Given the description of an element on the screen output the (x, y) to click on. 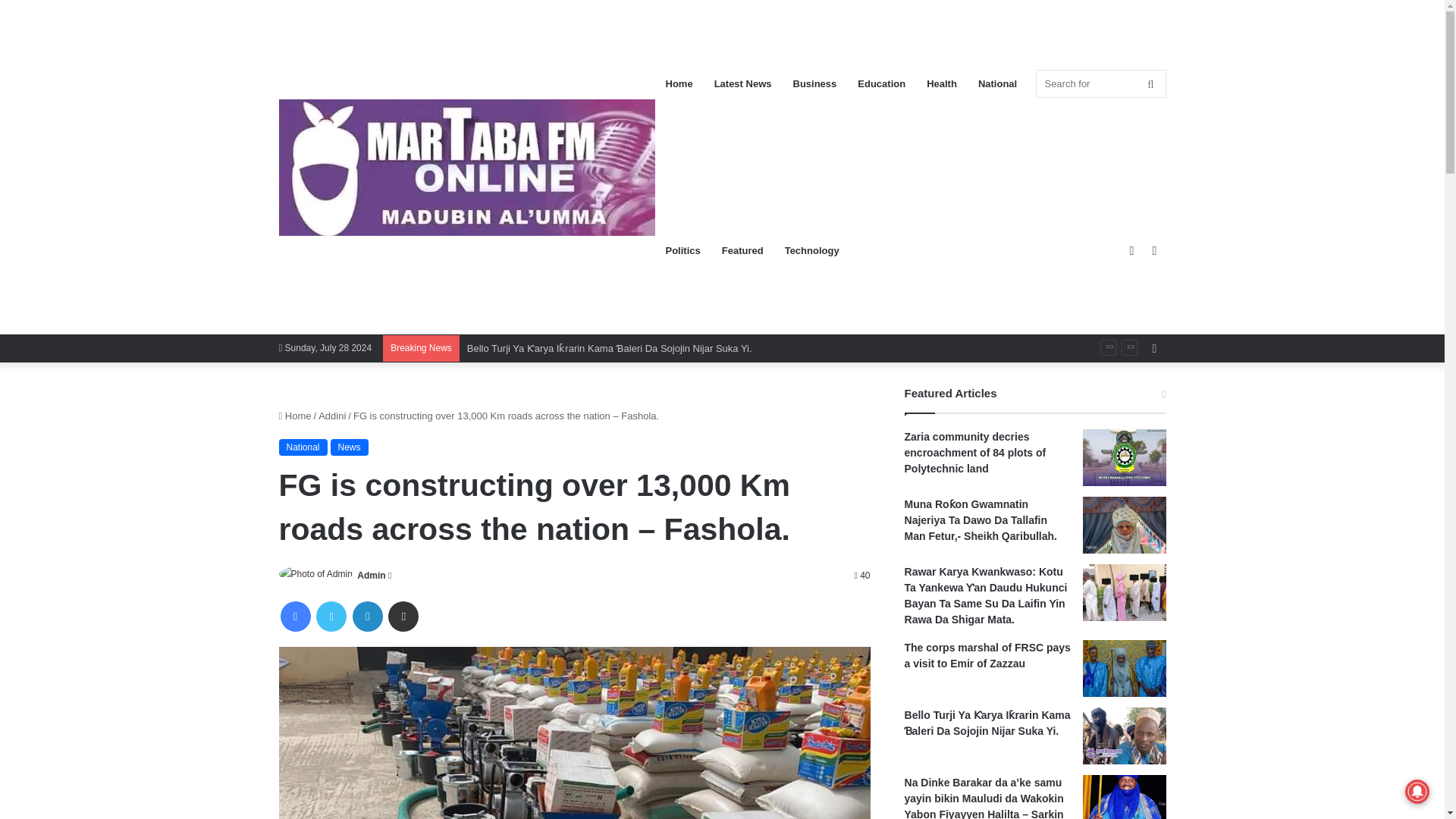
Martaba FM (467, 167)
Twitter (330, 616)
Share via Email (403, 616)
Addini (332, 415)
News (349, 446)
LinkedIn (367, 616)
Share via Email (403, 616)
Facebook (296, 616)
Admin (370, 575)
National (303, 446)
Home (295, 415)
LinkedIn (367, 616)
Twitter (330, 616)
Facebook (296, 616)
Admin (370, 575)
